Given the description of an element on the screen output the (x, y) to click on. 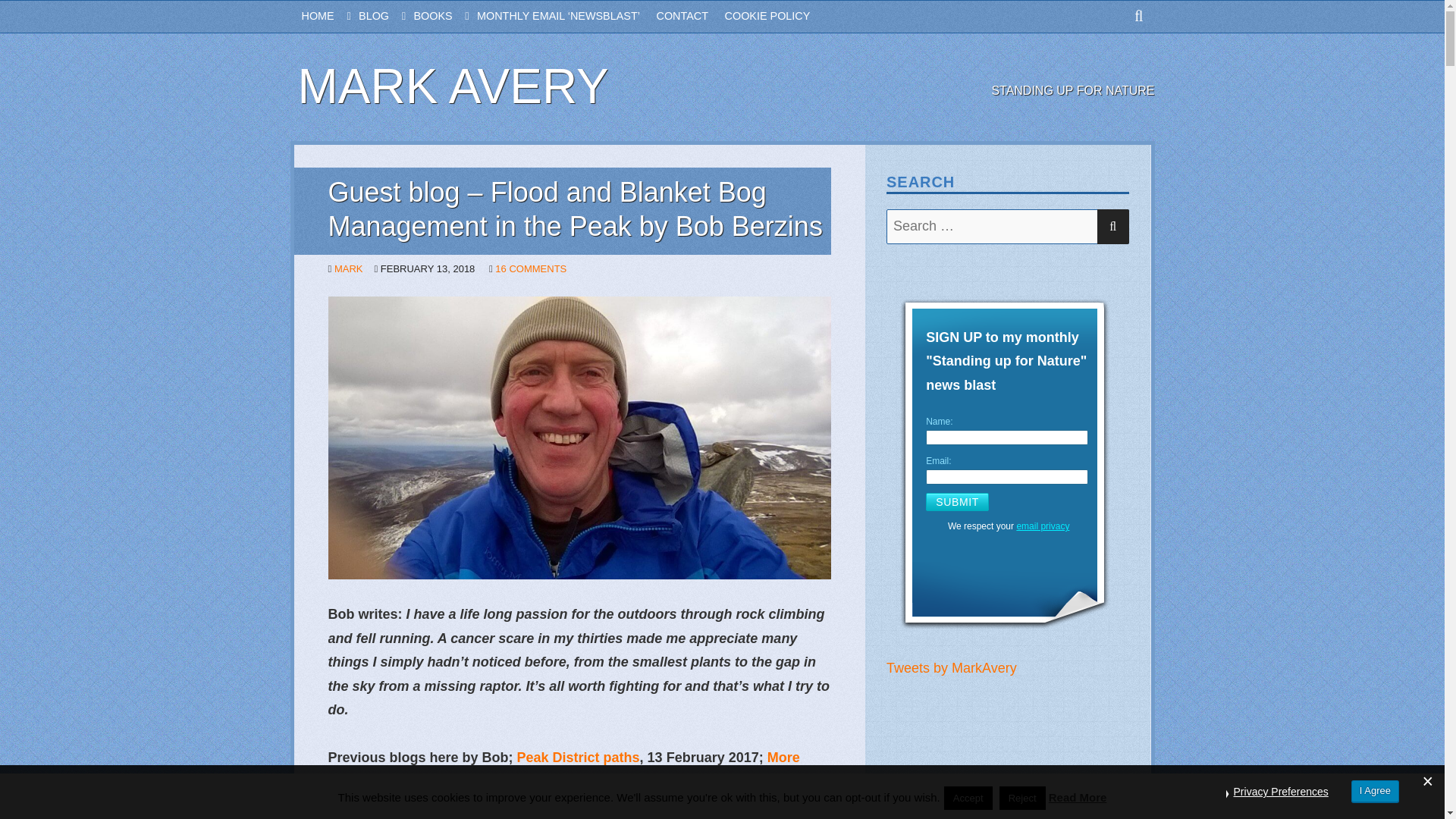
BOOKS (445, 16)
COOKIE POLICY (776, 16)
MARK AVERY (452, 85)
HOME (330, 16)
Submit (957, 502)
BLOG (385, 16)
Privacy Policy (1042, 525)
CONTACT (689, 16)
